Given the description of an element on the screen output the (x, y) to click on. 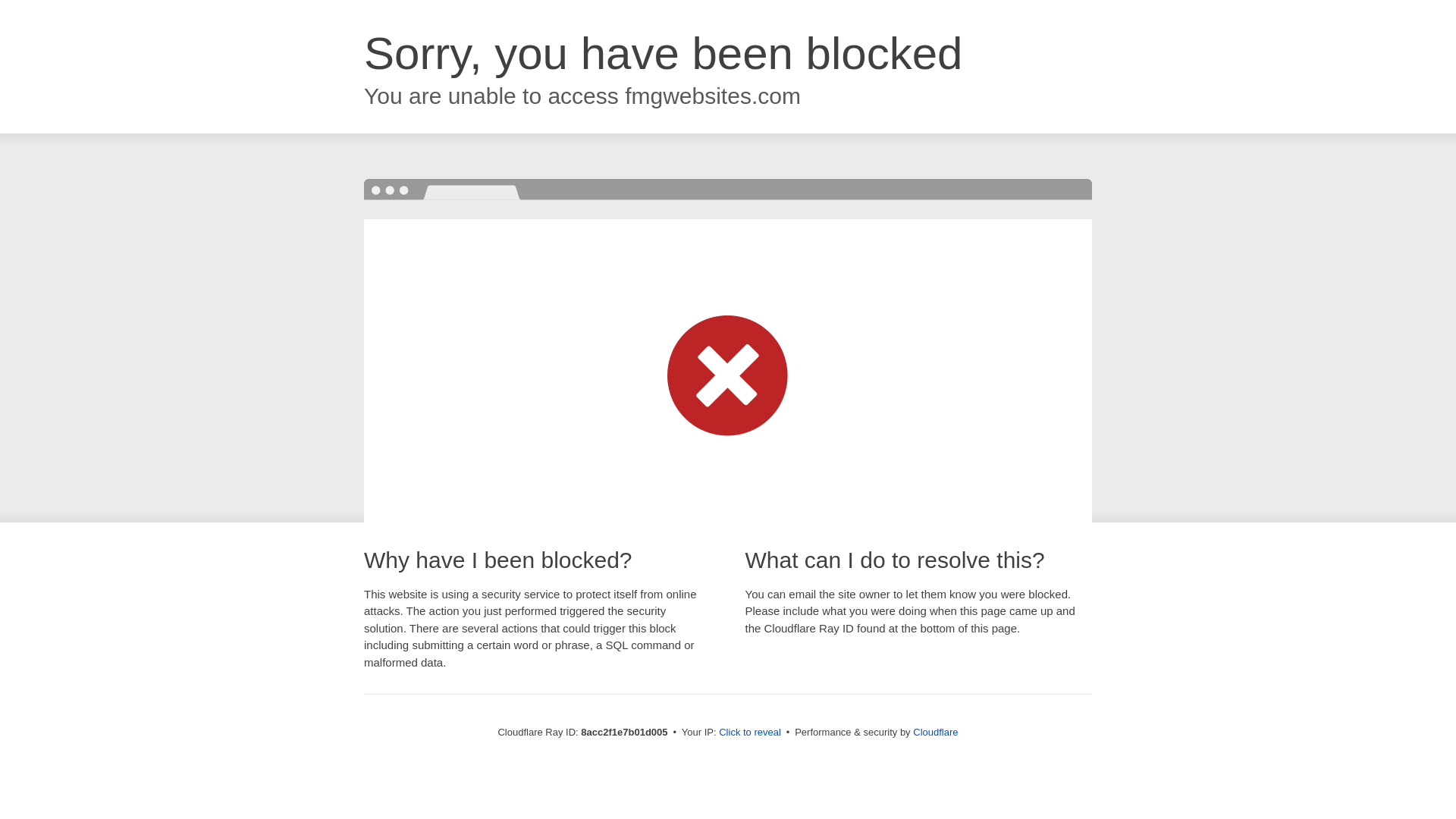
Cloudflare (935, 731)
Click to reveal (749, 732)
